Given the description of an element on the screen output the (x, y) to click on. 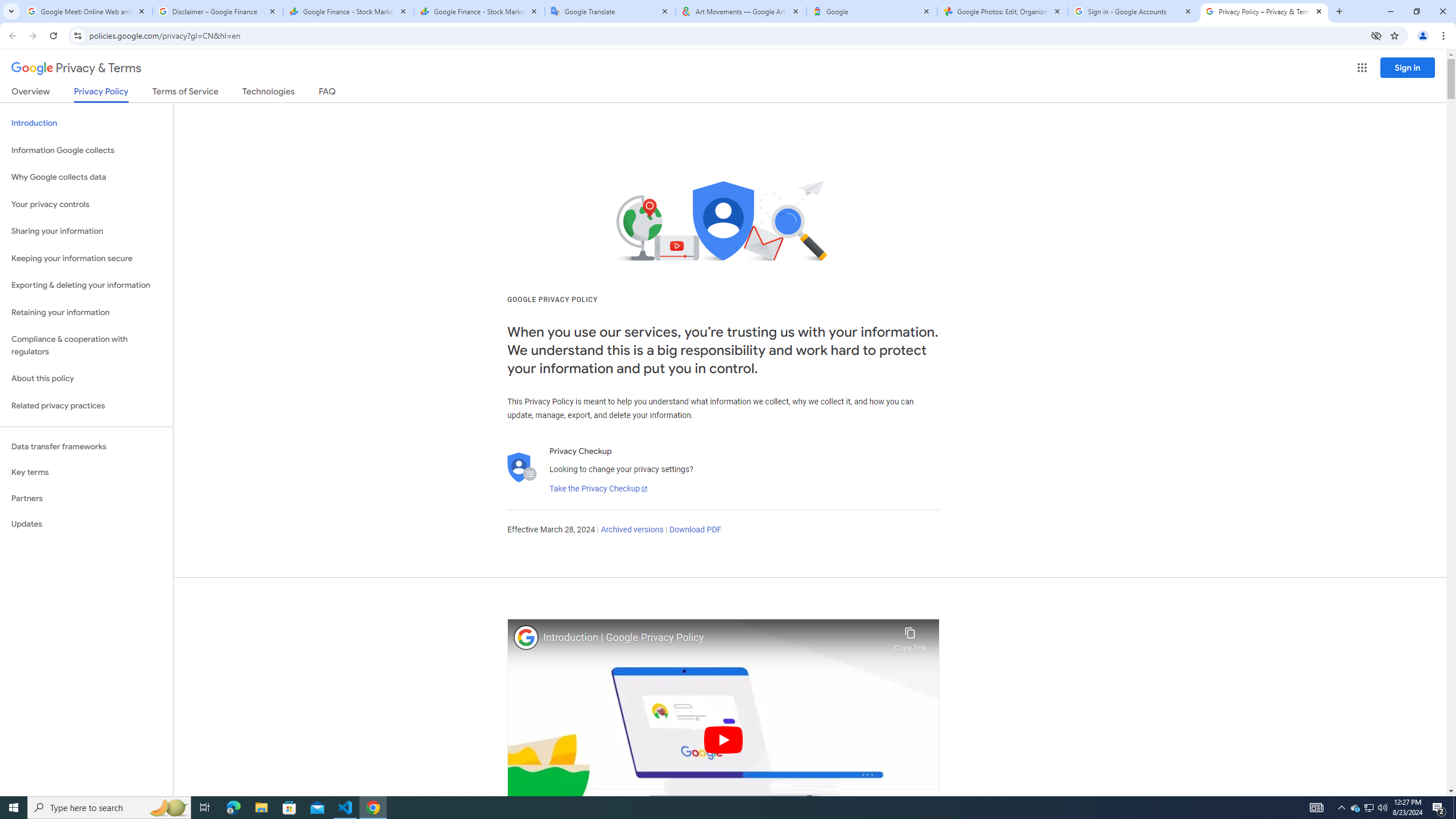
Introduction | Google Privacy Policy (715, 637)
Take the Privacy Checkup (597, 488)
Photo image of Google (526, 636)
Google (871, 11)
Copy link (909, 636)
